Given the description of an element on the screen output the (x, y) to click on. 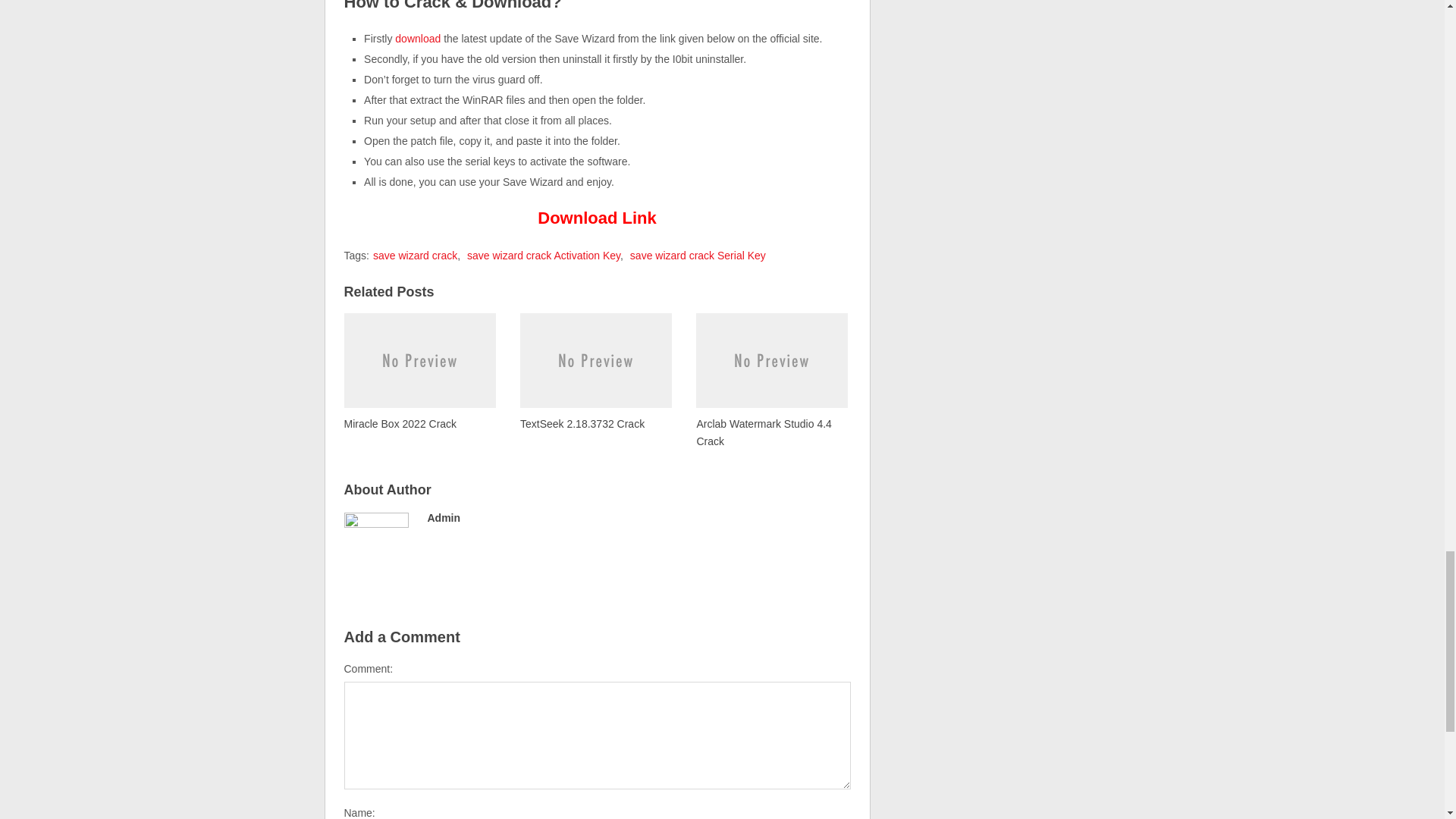
Arclab Watermark Studio 4.4 Crack (771, 379)
TextSeek 2.18.3732 Crack (595, 371)
save wizard crack (414, 255)
TextSeek 2.18.3732 Crack (595, 371)
Miracle Box 2022 Crack (419, 371)
Download Link (596, 217)
Arclab Watermark Studio 4.4 Crack (771, 379)
Miracle Box 2022 Crack (419, 371)
save wizard crack Activation Key (543, 255)
save wizard crack Serial Key (697, 255)
download (417, 38)
